Given the description of an element on the screen output the (x, y) to click on. 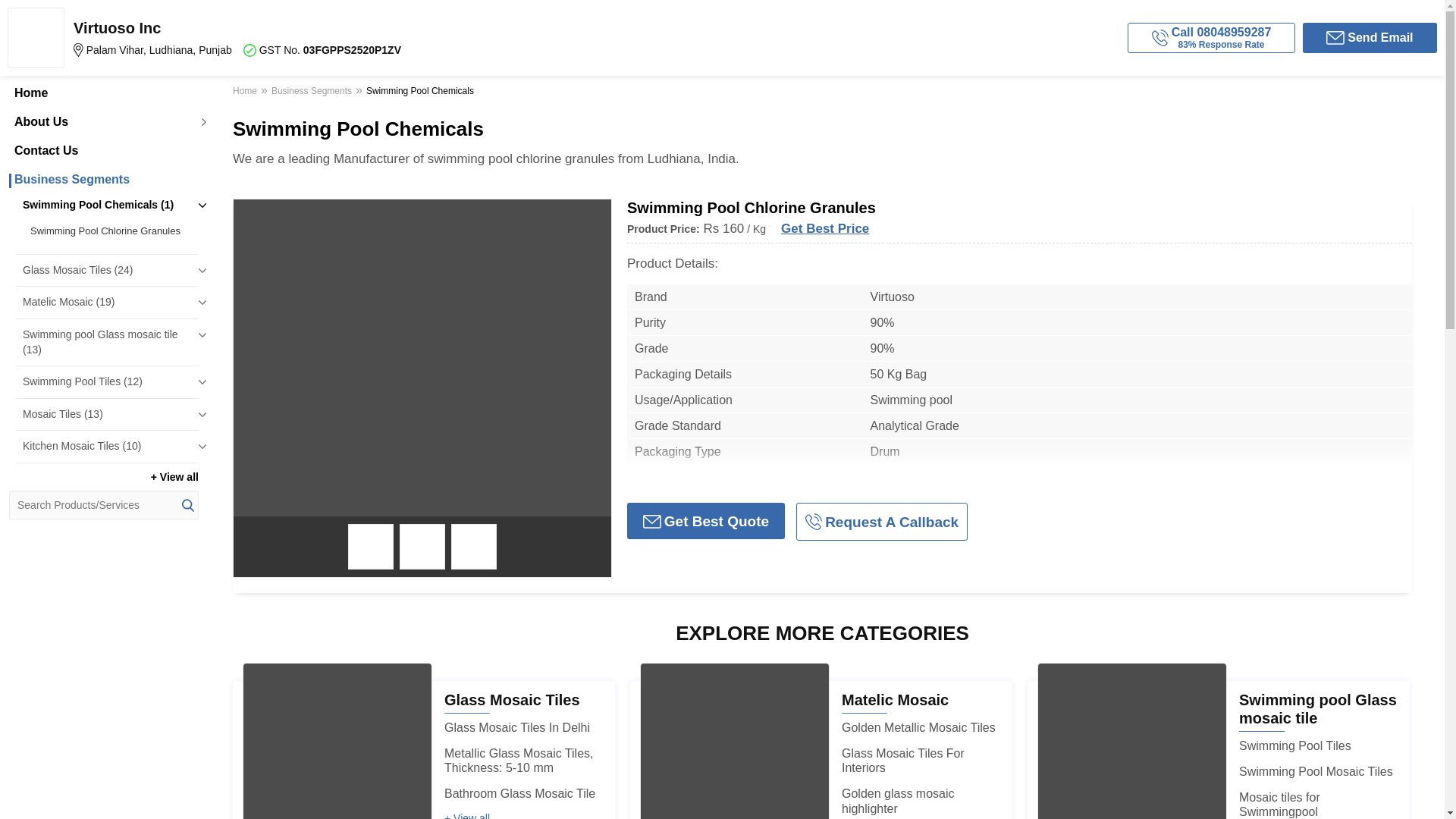
Contact Us (103, 150)
Home (103, 92)
About Us (103, 121)
Business Segments (103, 179)
Swimming Pool Chlorine Granules (110, 231)
